Given the description of an element on the screen output the (x, y) to click on. 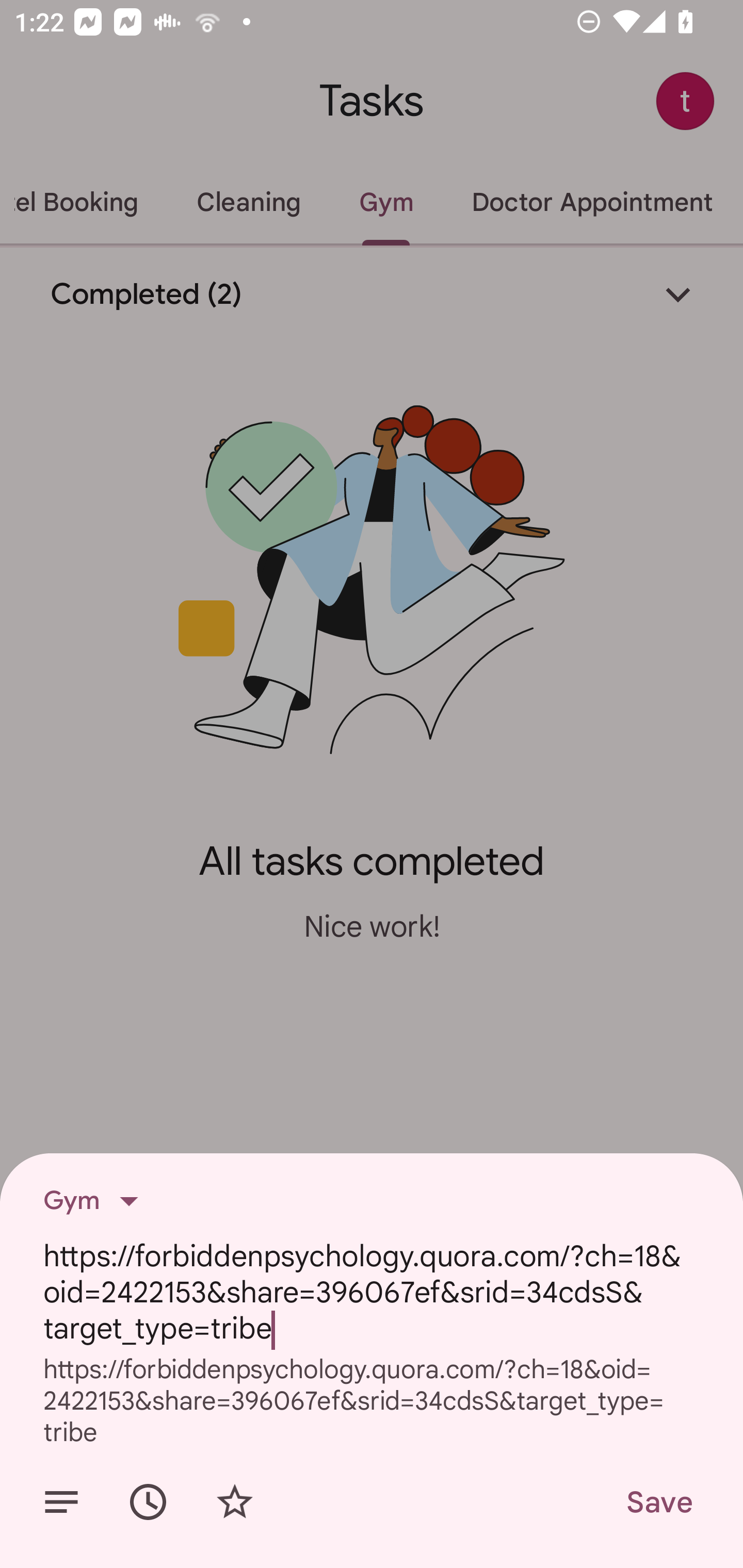
Gym List, Gym selected, 1 of 6 (96, 1201)
Save (659, 1501)
Add details (60, 1501)
Set date/time (147, 1501)
Add star (234, 1501)
